Given the description of an element on the screen output the (x, y) to click on. 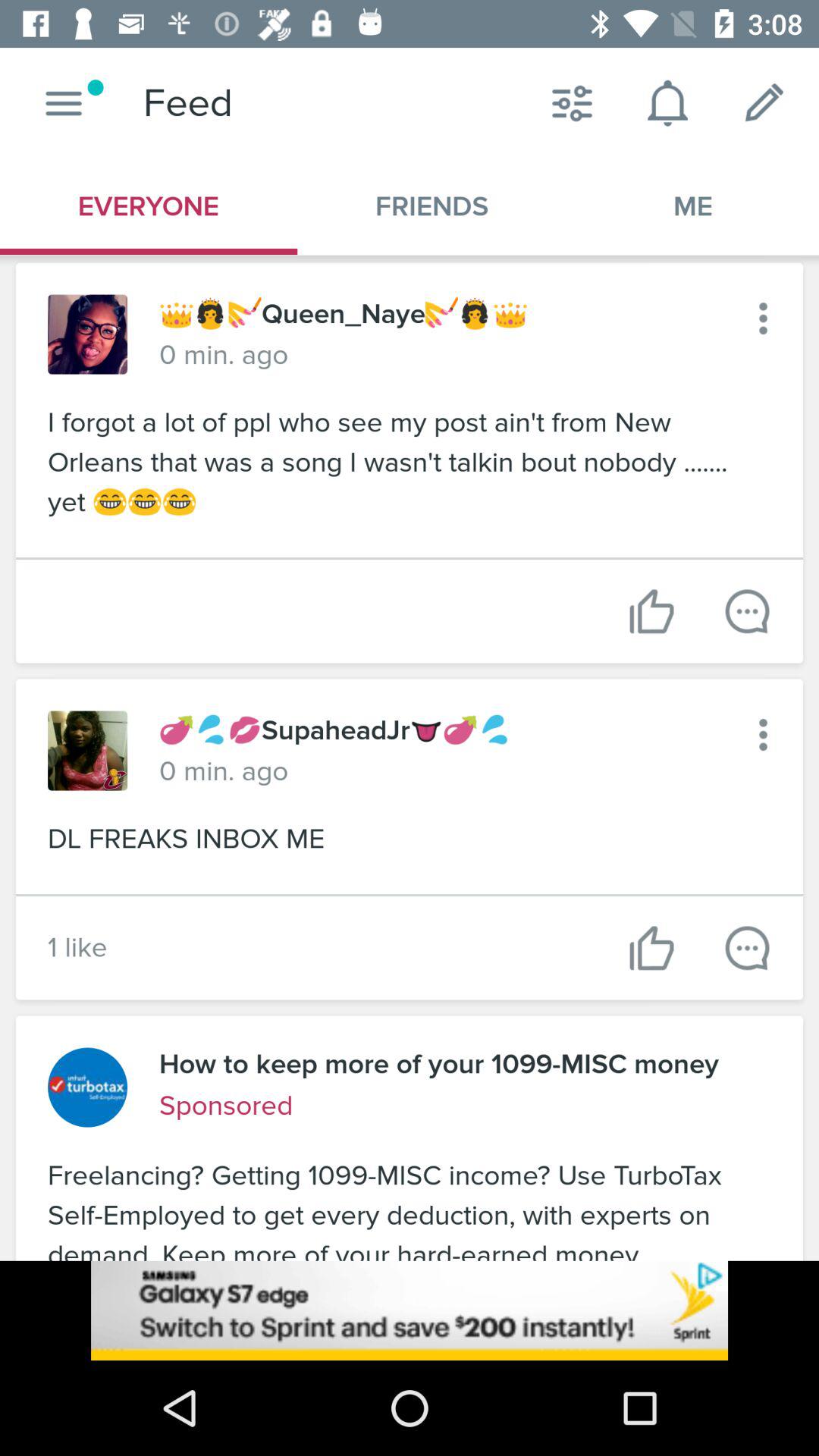
go to share (747, 611)
